Given the description of an element on the screen output the (x, y) to click on. 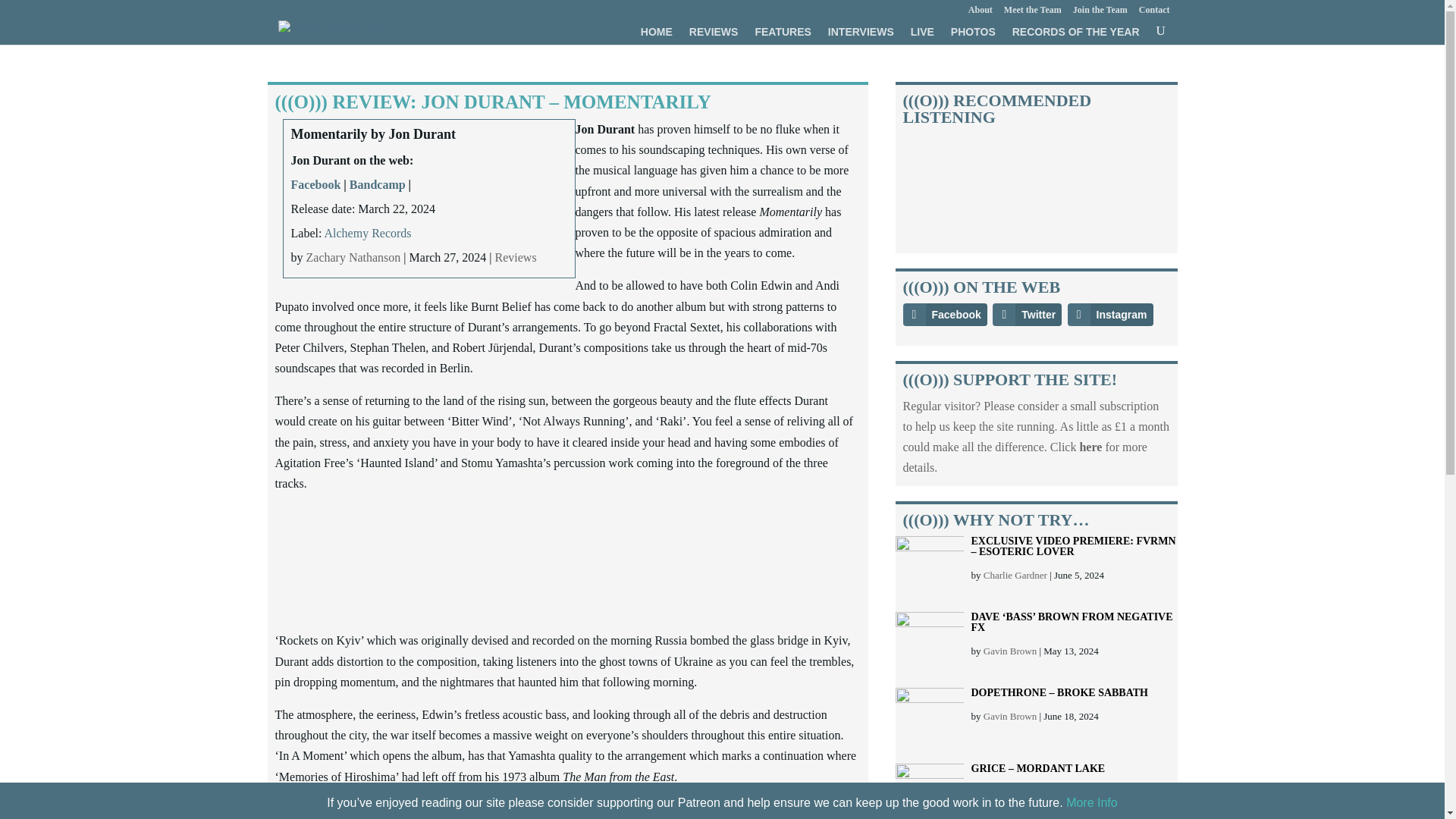
PHOTOS (972, 35)
LIVE (922, 35)
Facebook (315, 184)
Facebook (315, 184)
INTERVIEWS (860, 35)
Bandcamp (377, 184)
RECORDS OF THE YEAR (1075, 35)
Bandcamp (377, 184)
Meet the Team (1032, 11)
Zachary Nathanson (353, 256)
